Given the description of an element on the screen output the (x, y) to click on. 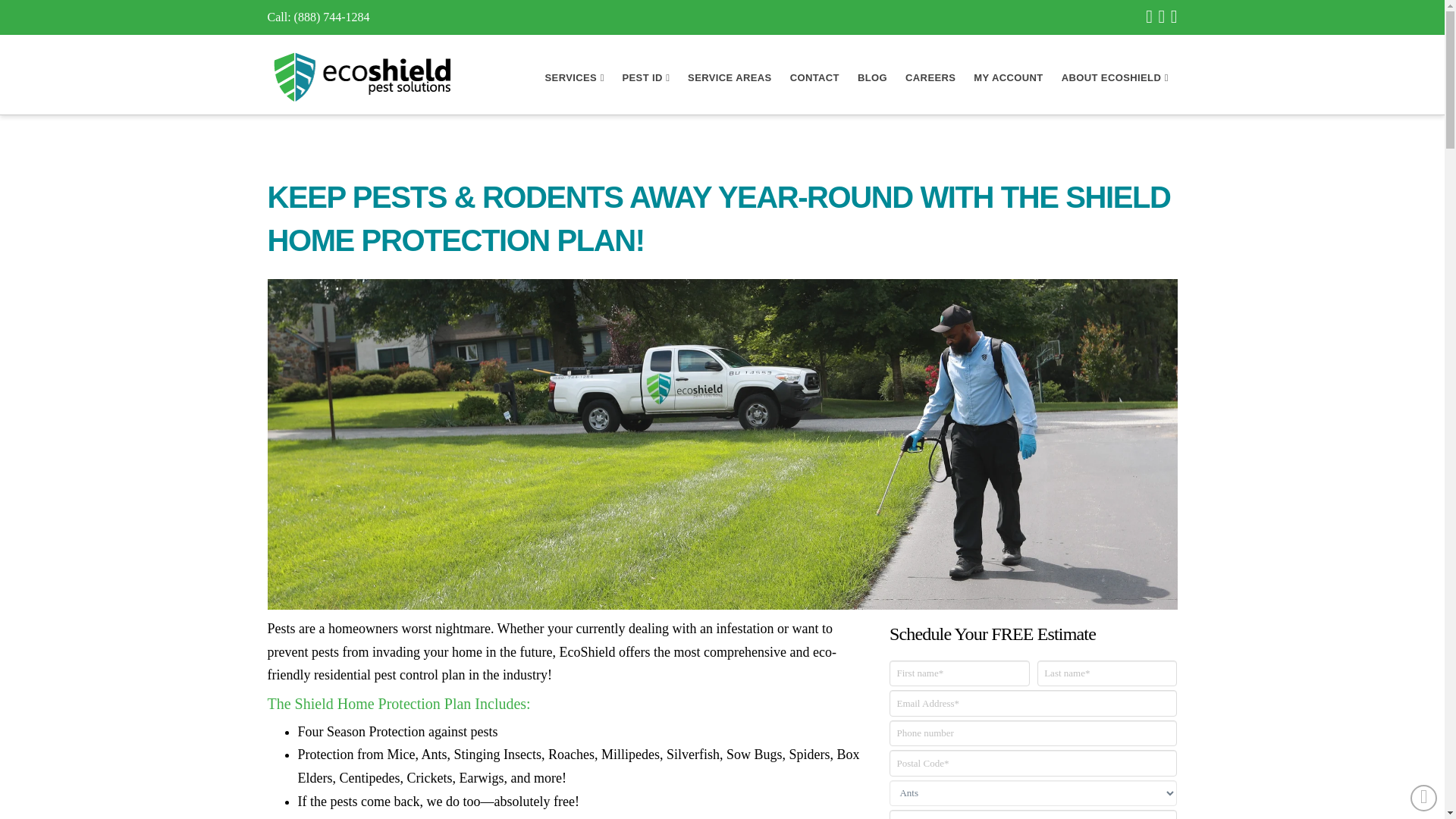
SERVICES (573, 74)
EcoShield Pest Solutions (361, 76)
SERVICE AREAS (729, 74)
